Given the description of an element on the screen output the (x, y) to click on. 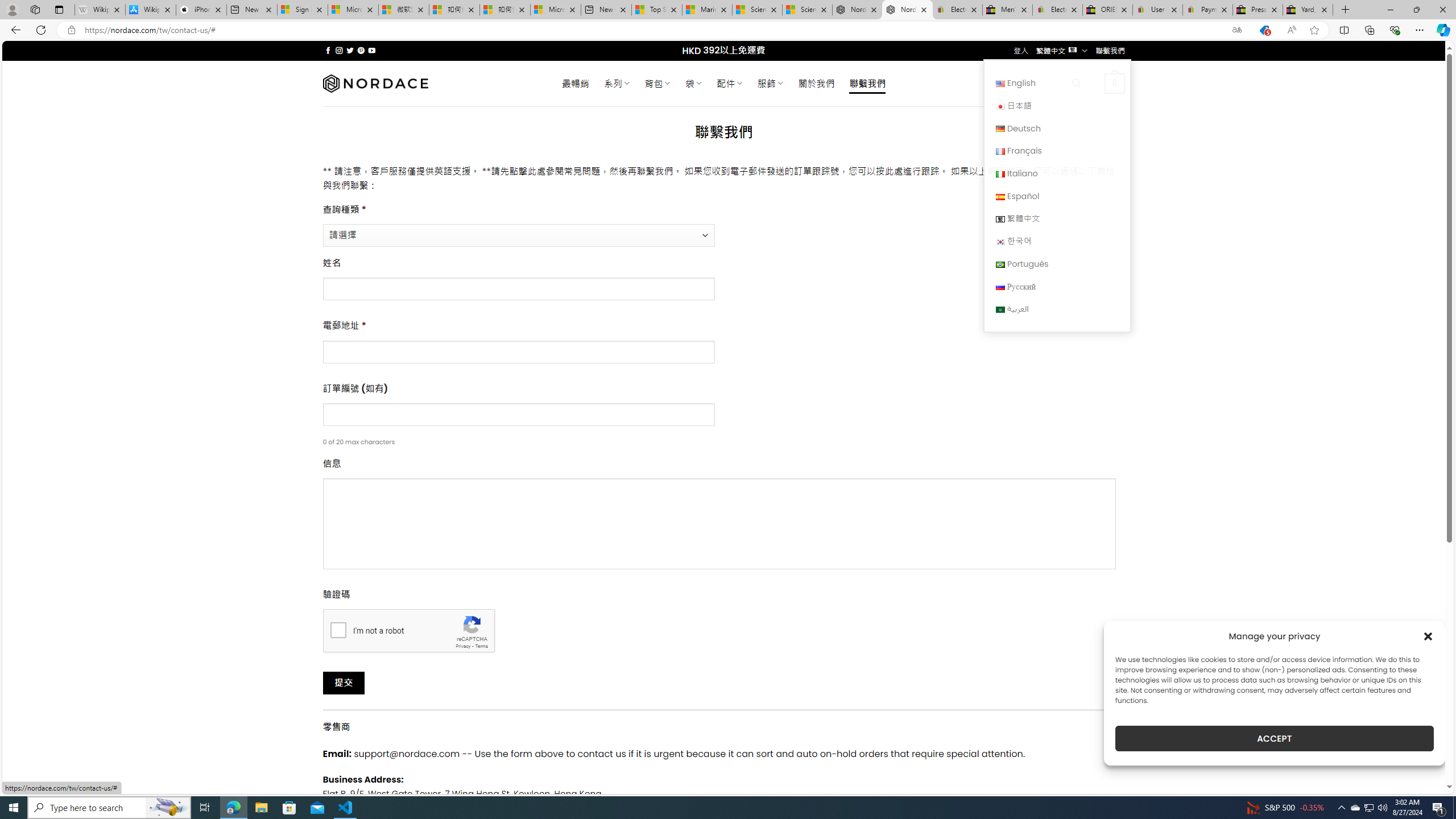
Follow on Instagram (338, 50)
Class: cmplz-close (1428, 636)
Follow on Twitter (349, 50)
This site has coupons! Shopping in Microsoft Edge, 5 (1263, 29)
Top Stories - MSN (656, 9)
